Given the description of an element on the screen output the (x, y) to click on. 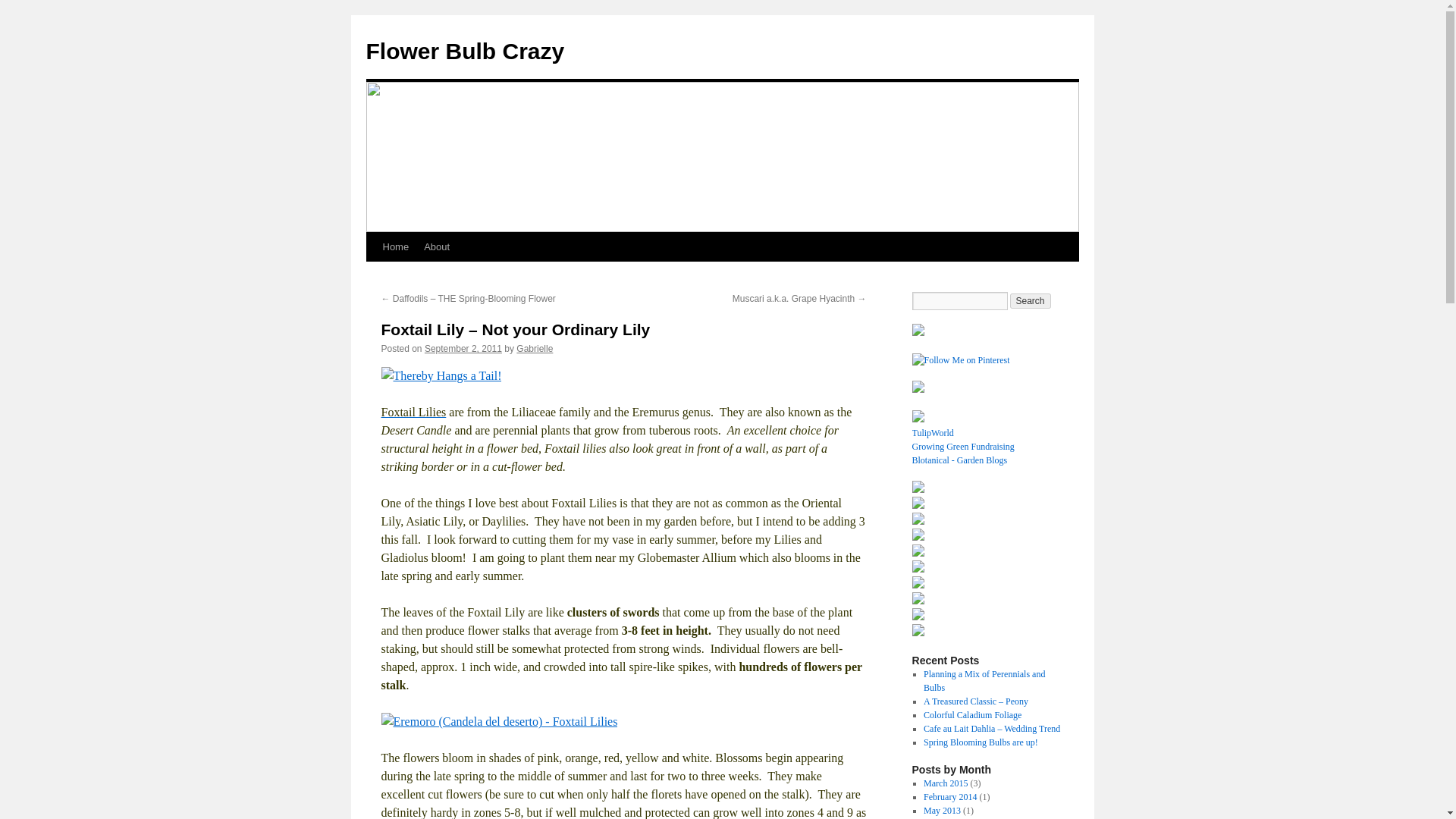
View all posts by Gabrielle (534, 348)
September 2, 2011 (463, 348)
Tulip World (917, 332)
Gabrielle (534, 348)
Foxtail Lilies (412, 411)
Flower Bulb Crazy (464, 50)
About (436, 246)
Home (395, 246)
12:33 pm (463, 348)
Flower Bulb Crazy (464, 50)
